Given the description of an element on the screen output the (x, y) to click on. 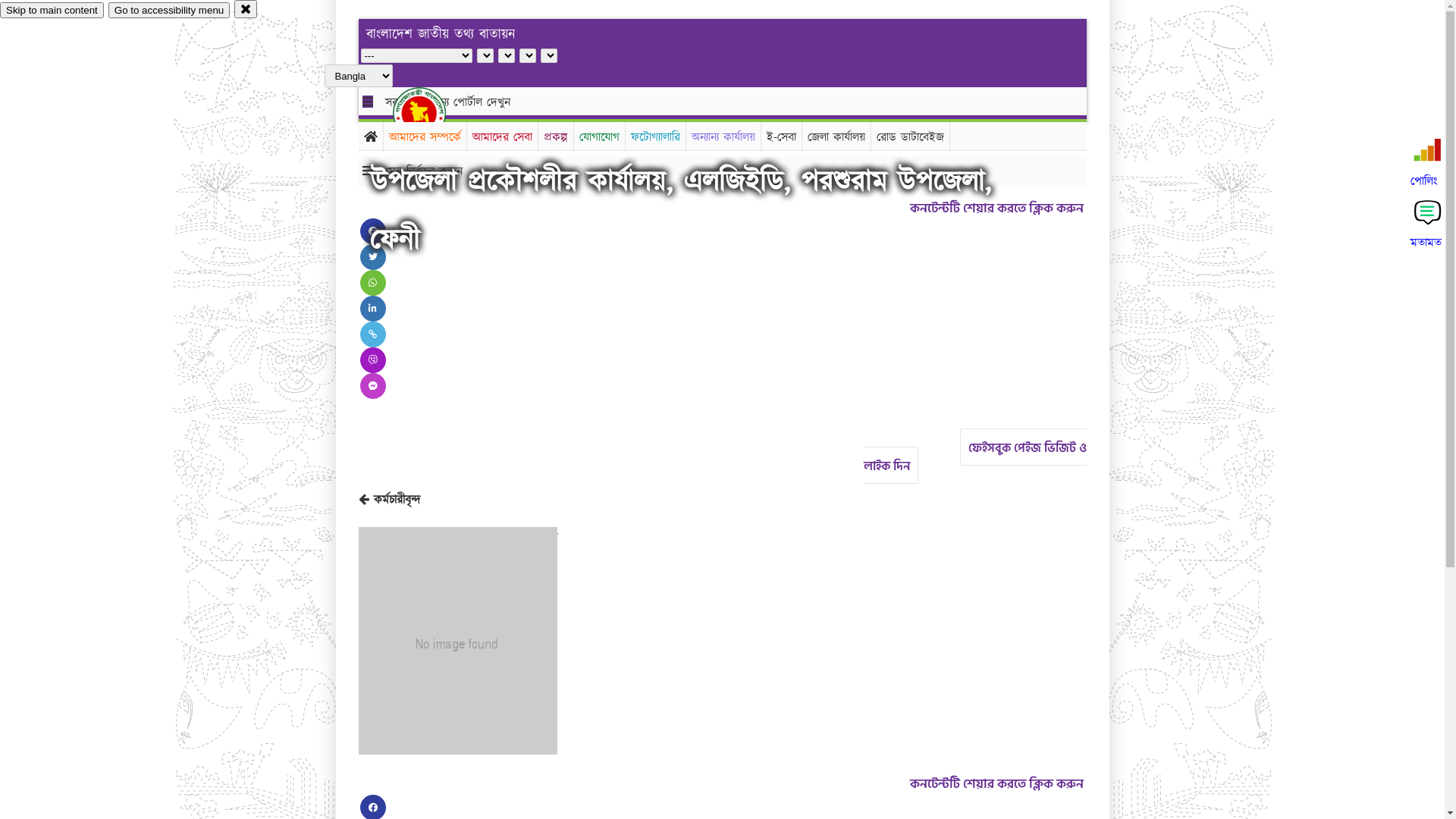
Go to accessibility menu Element type: text (168, 10)

                
             Element type: hover (431, 112)
close Element type: hover (245, 9)
Skip to main content Element type: text (51, 10)
